Given the description of an element on the screen output the (x, y) to click on. 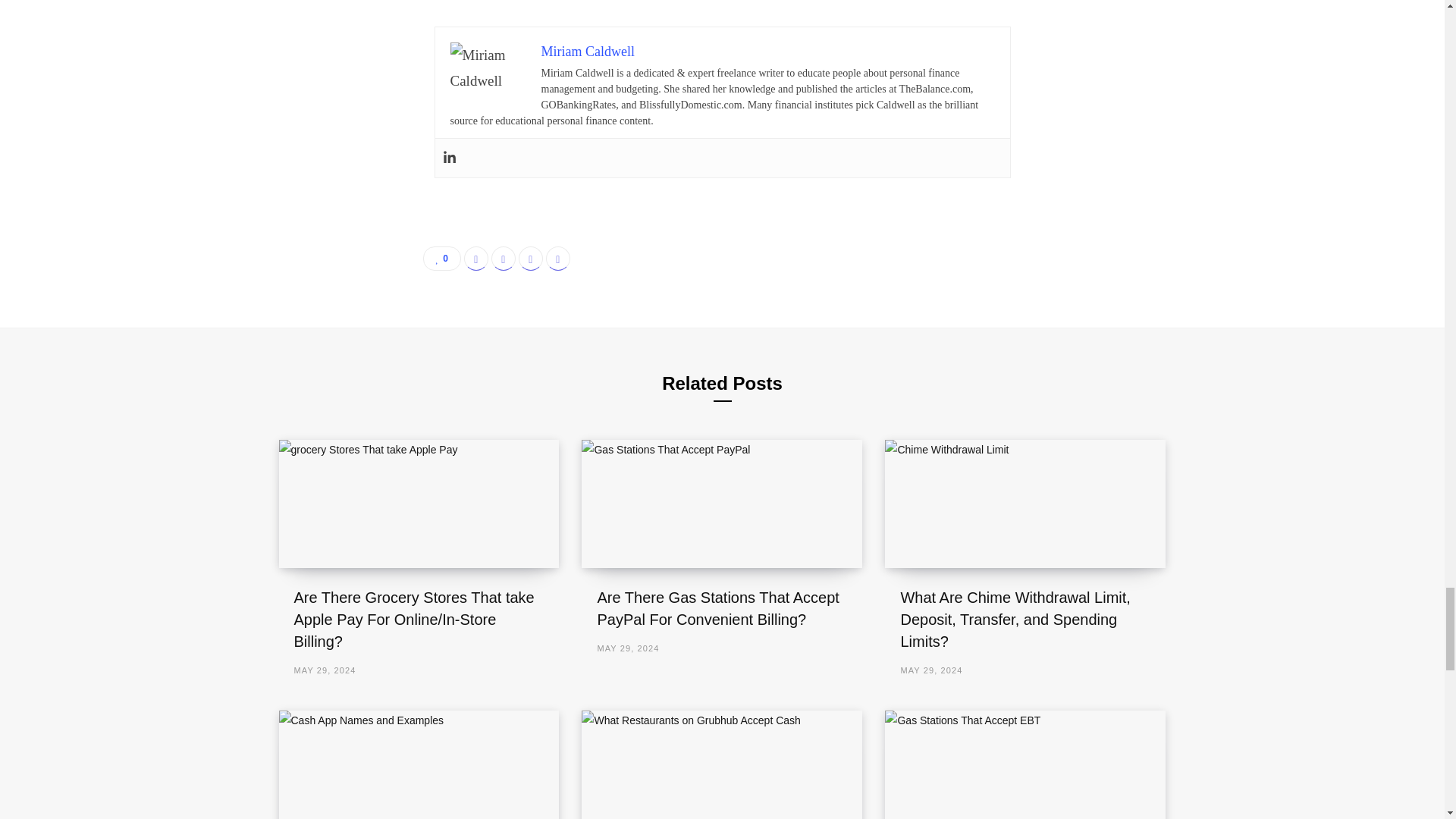
Share on Twitter (503, 258)
Share on Facebook (475, 258)
0 (442, 258)
Pinterest (558, 258)
Miriam Caldwell (587, 51)
LinkedIn (530, 258)
